Given the description of an element on the screen output the (x, y) to click on. 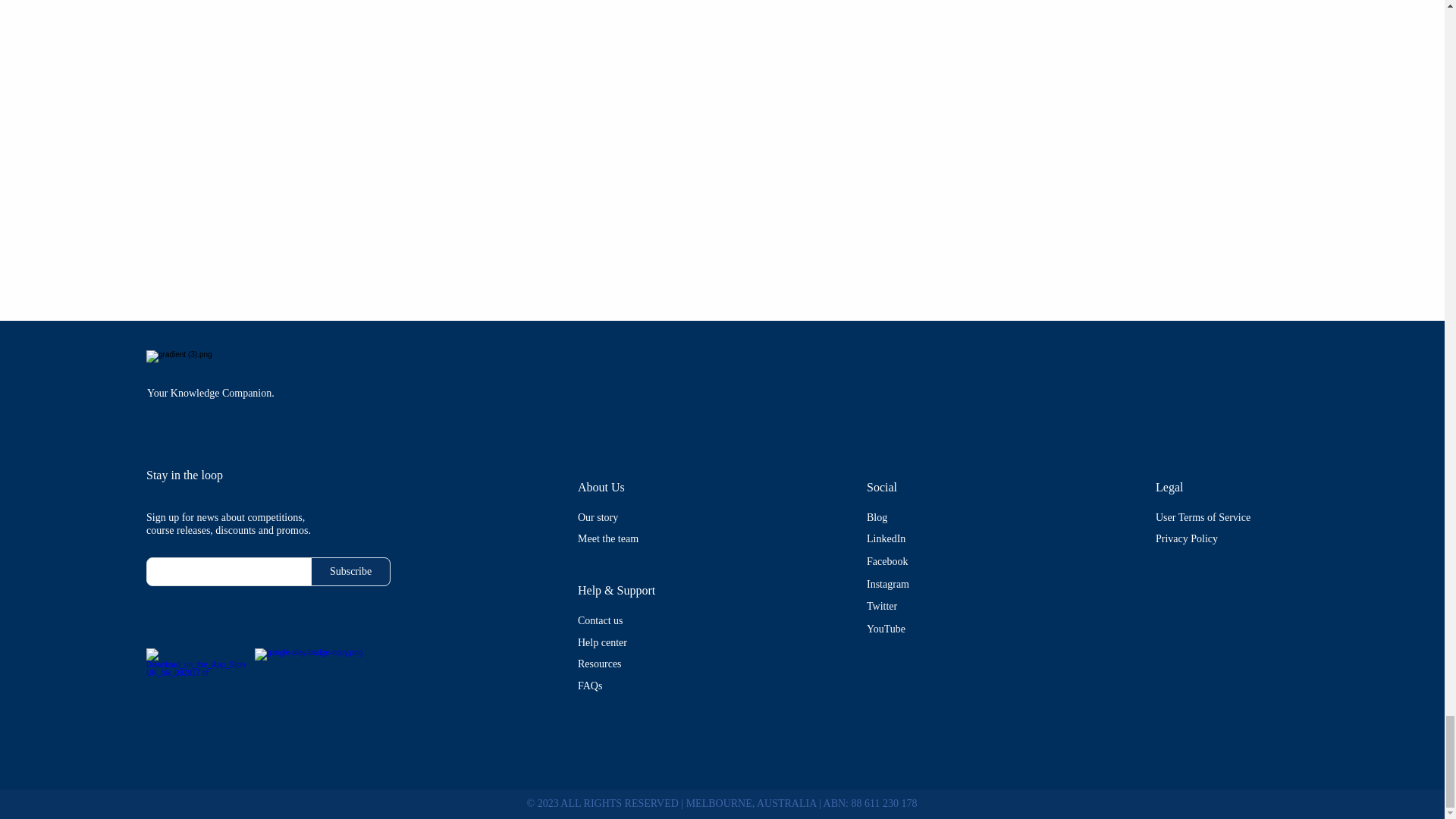
Subscribe (350, 571)
Meet the team (608, 538)
Contact us (600, 620)
Help center (602, 642)
Our story (597, 517)
